Given the description of an element on the screen output the (x, y) to click on. 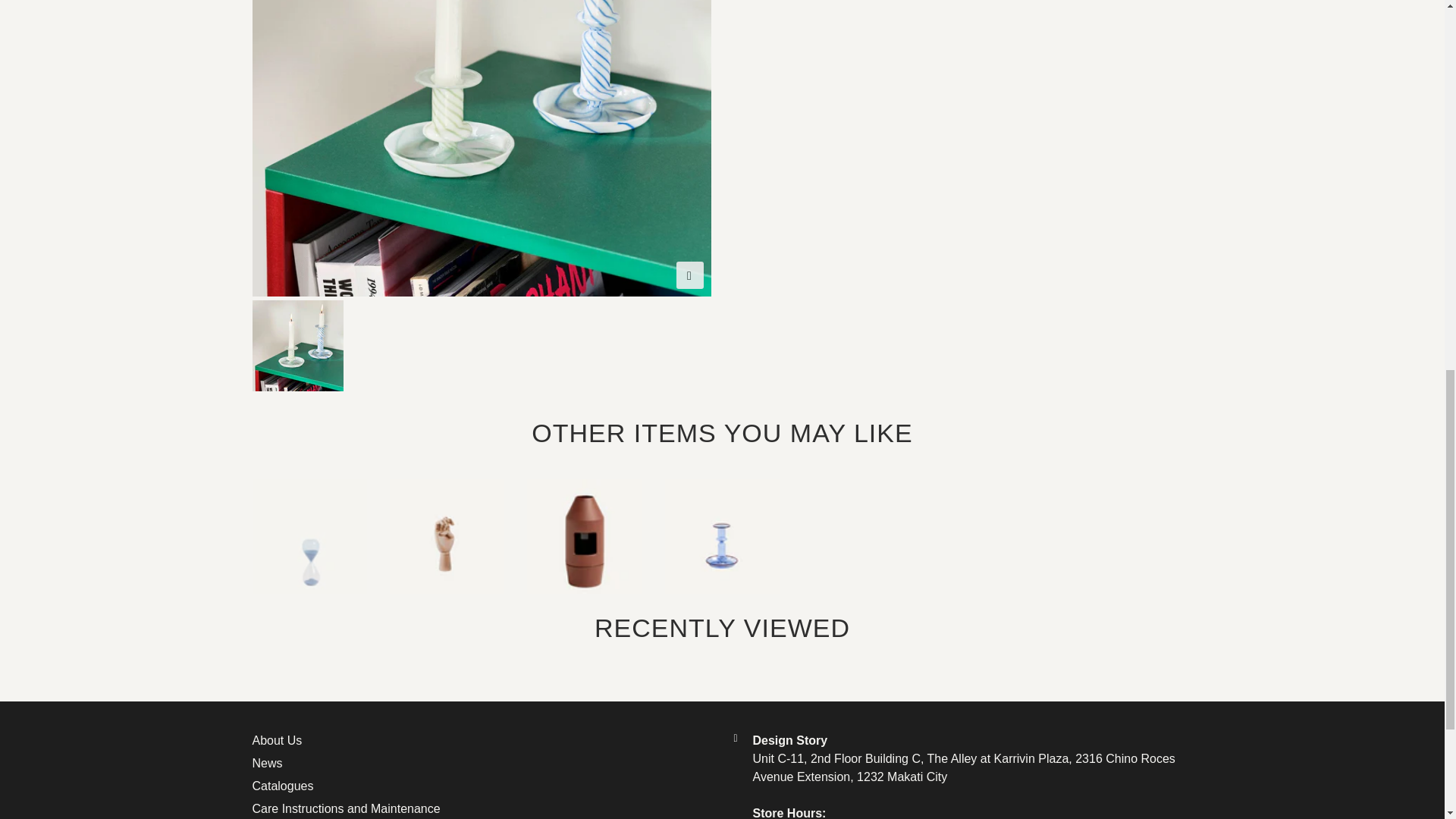
Zoom (690, 275)
